Given the description of an element on the screen output the (x, y) to click on. 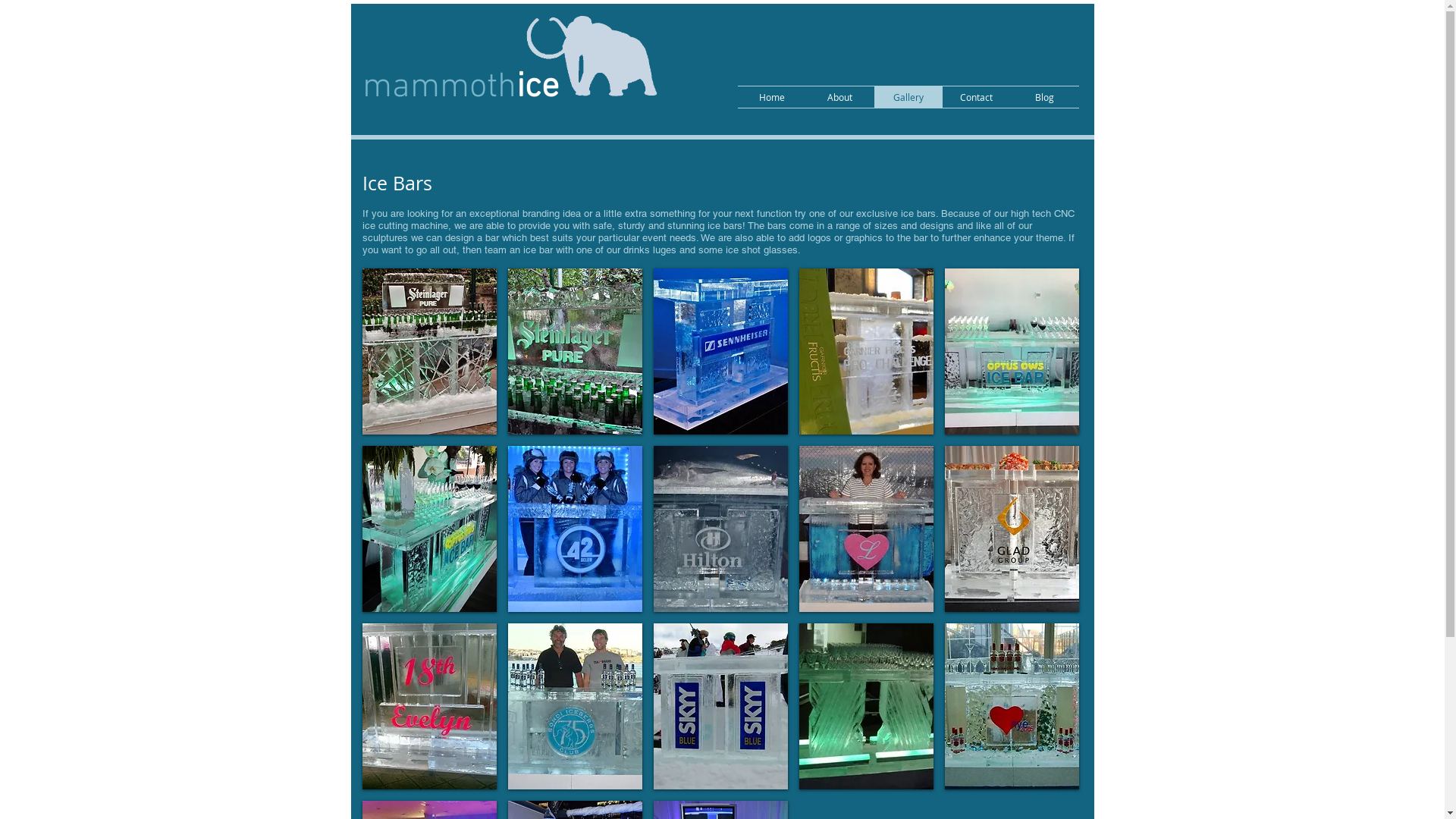
Blog Element type: text (1044, 96)
Contact Element type: text (975, 96)
Home Element type: text (771, 96)
Gallery Element type: text (907, 96)
About Element type: text (839, 96)
